Given the description of an element on the screen output the (x, y) to click on. 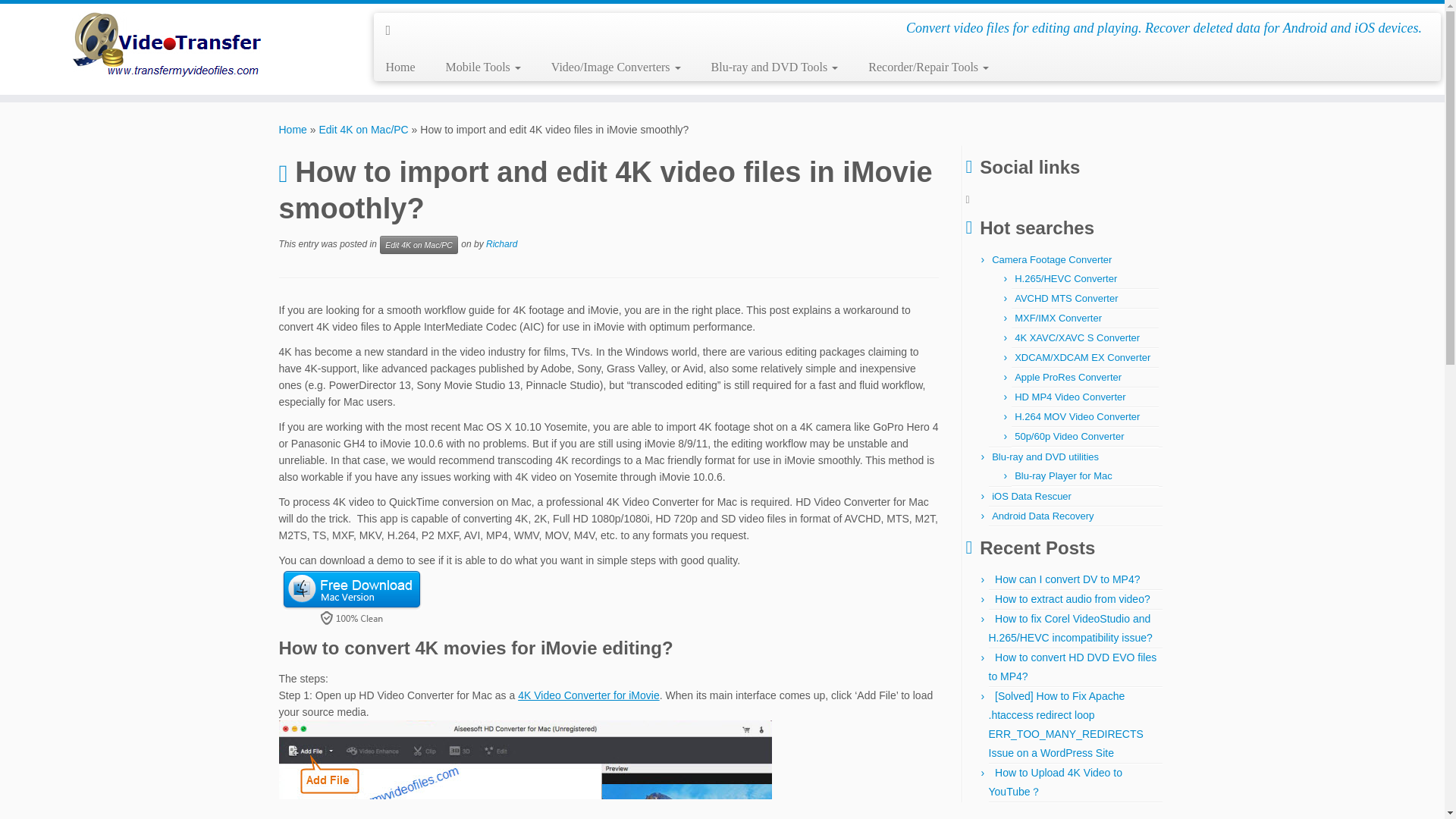
Mobile Tools (482, 67)
4K Video Converter for iMovie (588, 695)
View all posts by Richard (501, 244)
Blu-ray and DVD Tools (774, 67)
Home (405, 67)
Home (293, 129)
Video Transfer (293, 129)
Follow us on Rss (392, 29)
Richard (501, 244)
